Given the description of an element on the screen output the (x, y) to click on. 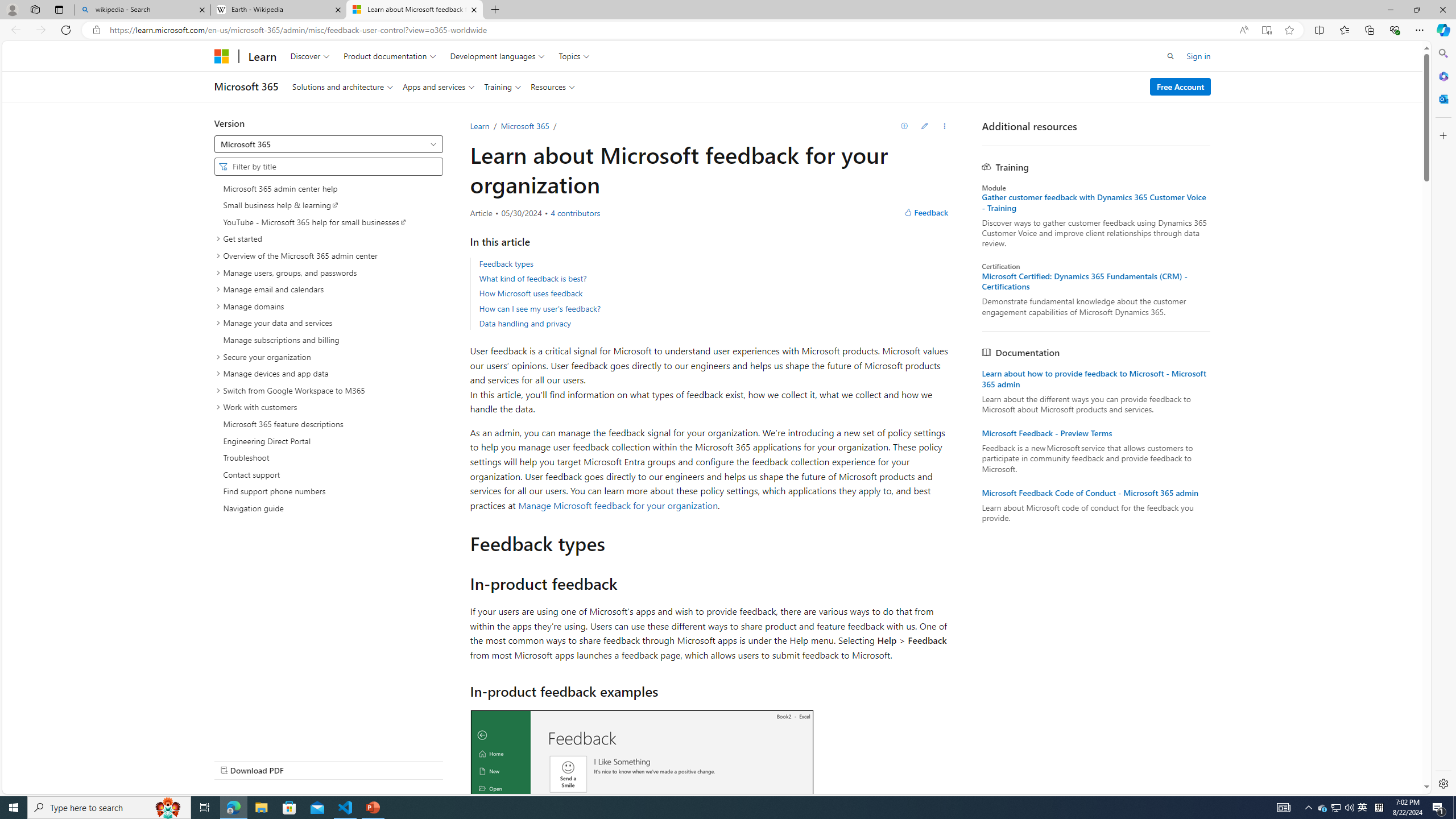
Split screen (1318, 29)
Skip to main content (10, 49)
Microsoft 365 (1442, 76)
Data handling and privacy (714, 323)
Resources (552, 86)
Training (502, 86)
New Tab (495, 9)
Development languages (497, 55)
Customize (1442, 135)
What kind of feedback is best? (532, 278)
Training (502, 86)
Apps and services (438, 86)
Feedback (925, 212)
